Given the description of an element on the screen output the (x, y) to click on. 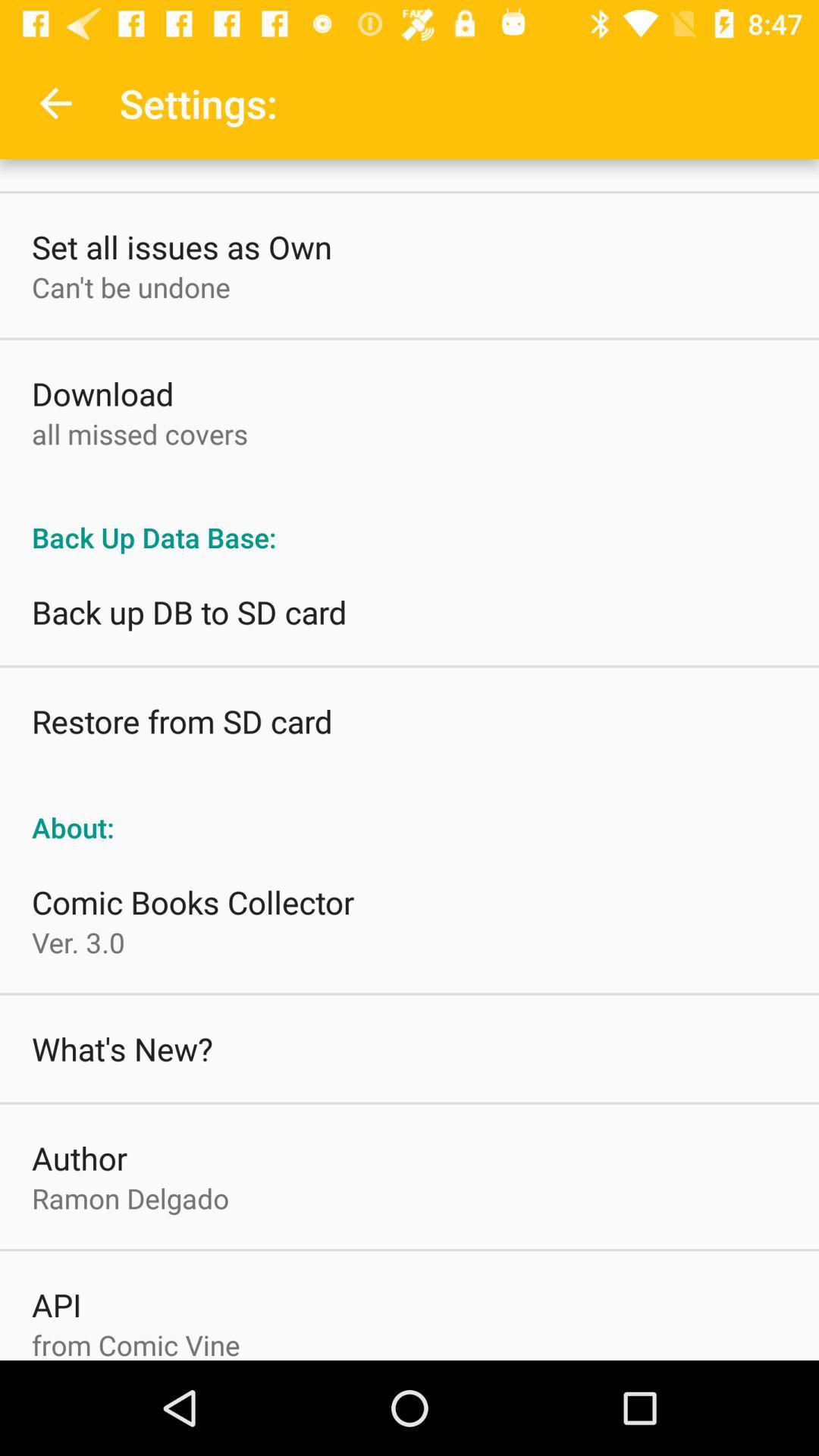
open item above can t be icon (181, 246)
